Given the description of an element on the screen output the (x, y) to click on. 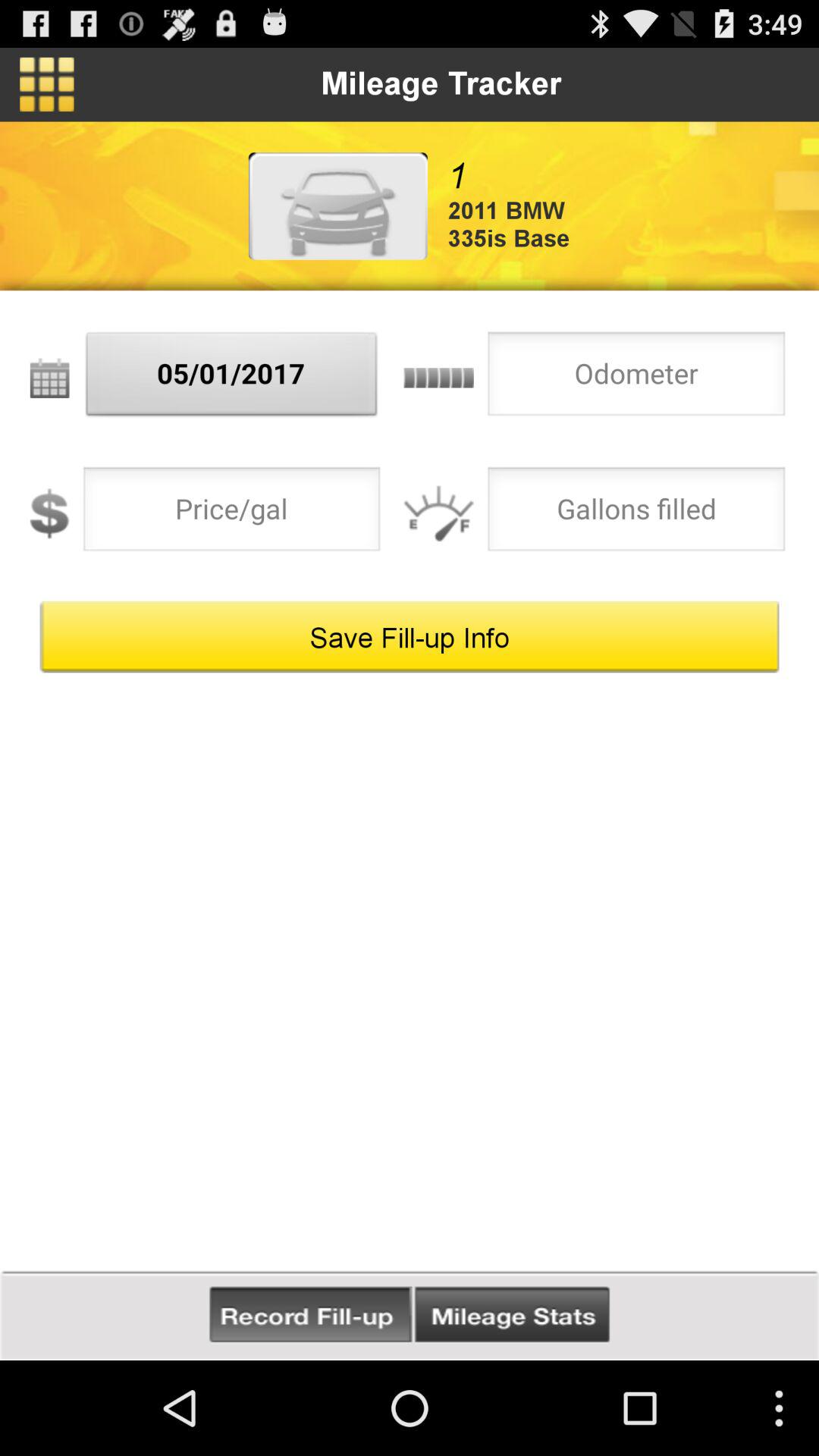
click the icon above the 05/01/2017 button (337, 205)
